Given the description of an element on the screen output the (x, y) to click on. 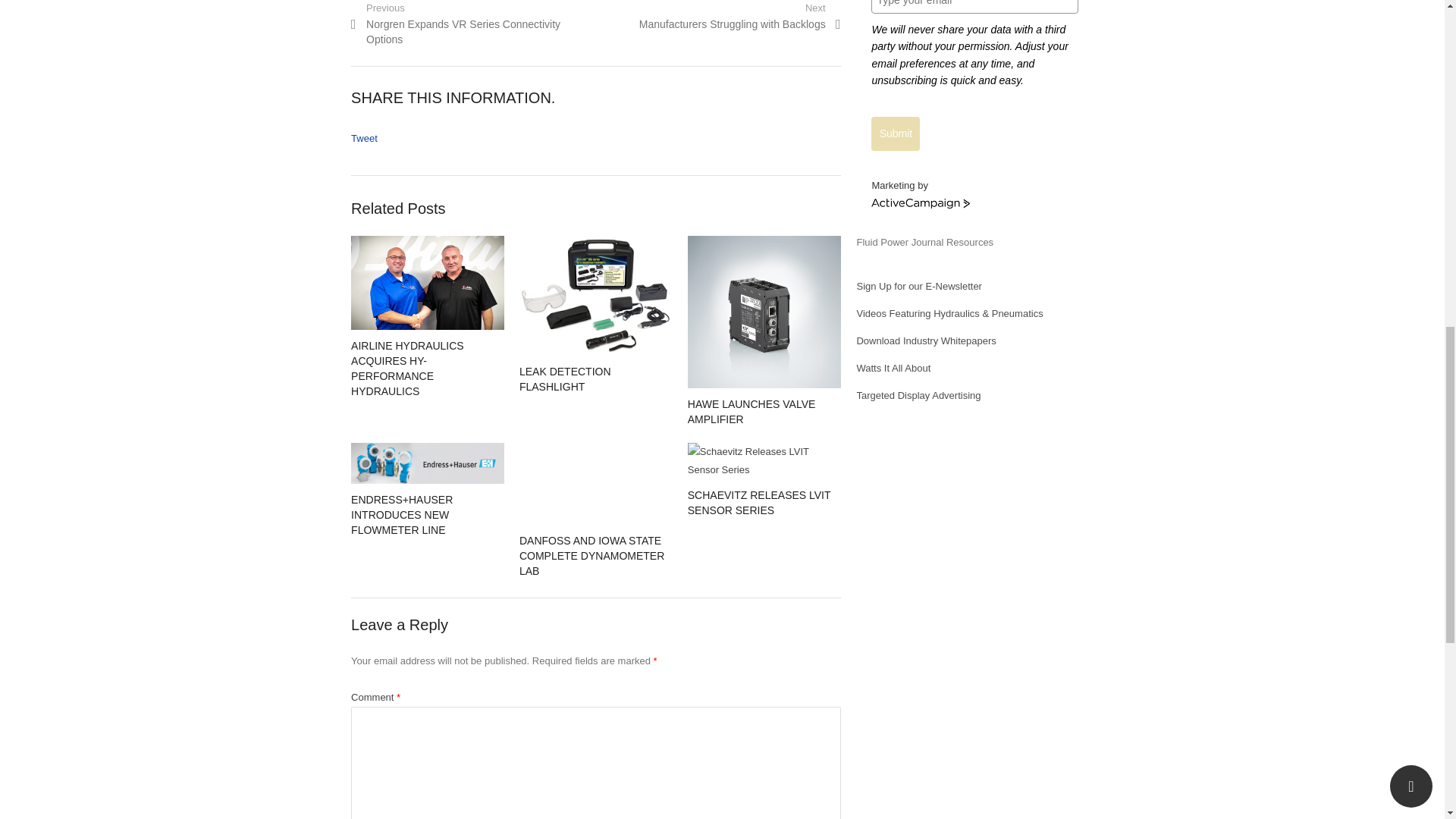
Danfoss and Iowa State Complete Dynamometer Lab (595, 483)
HAWE Launches Valve Amplifier (764, 312)
Leak Detection Flashlight (595, 295)
Airline Hydraulics Acquires Hy-Performance Hydraulics (426, 282)
HAWE Launches Valve Amplifier (751, 411)
Airline Hydraulics Acquires Hy-Performance Hydraulics (407, 368)
Leak Detection Flashlight (565, 379)
